Given the description of an element on the screen output the (x, y) to click on. 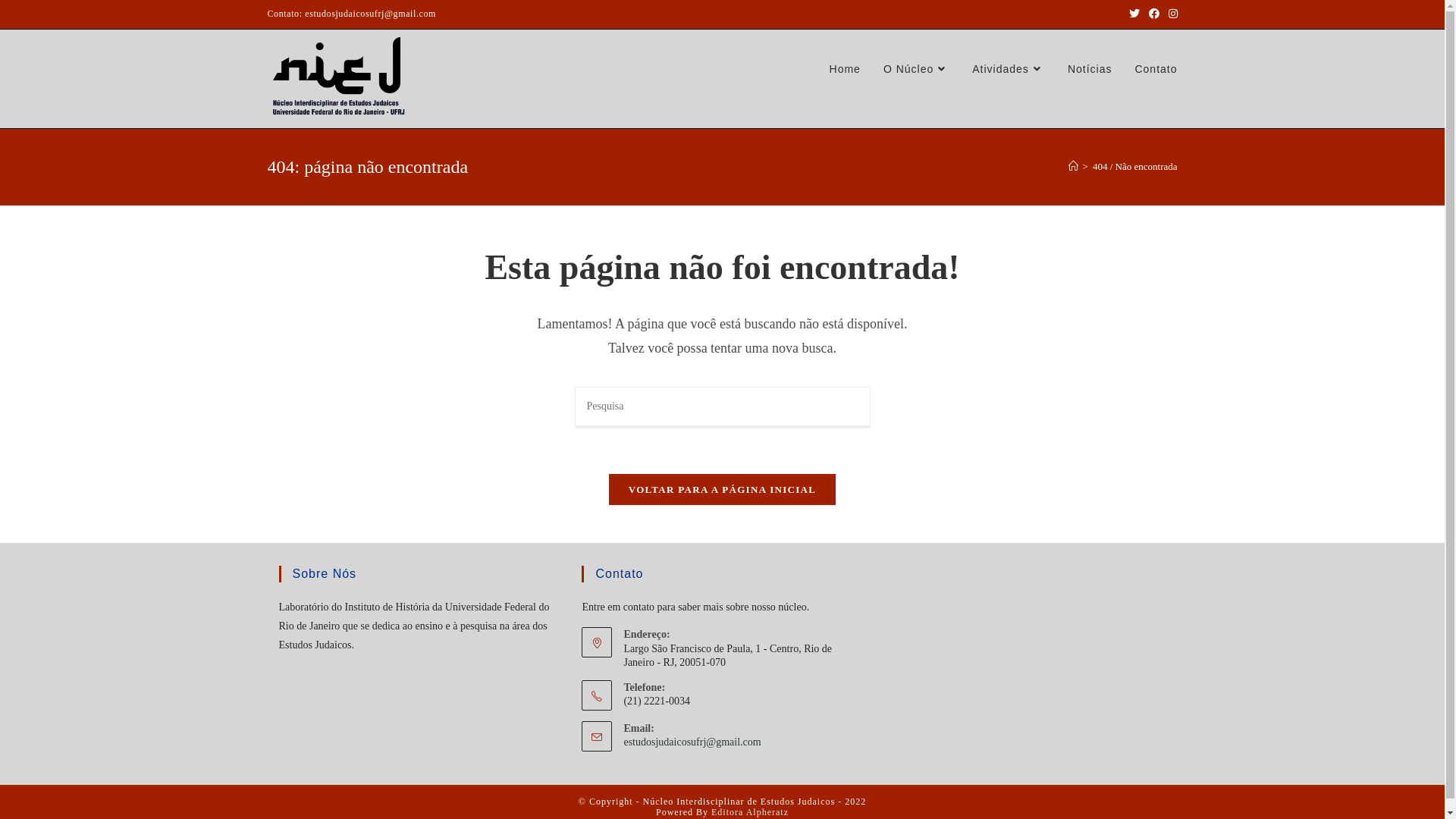
Editora Alpheratz Element type: text (749, 811)
estudosjudaicosufrj@gmail.com Element type: text (691, 741)
Atividades Element type: text (1008, 68)
Home Element type: text (845, 68)
Contato Element type: text (1155, 68)
